Given the description of an element on the screen output the (x, y) to click on. 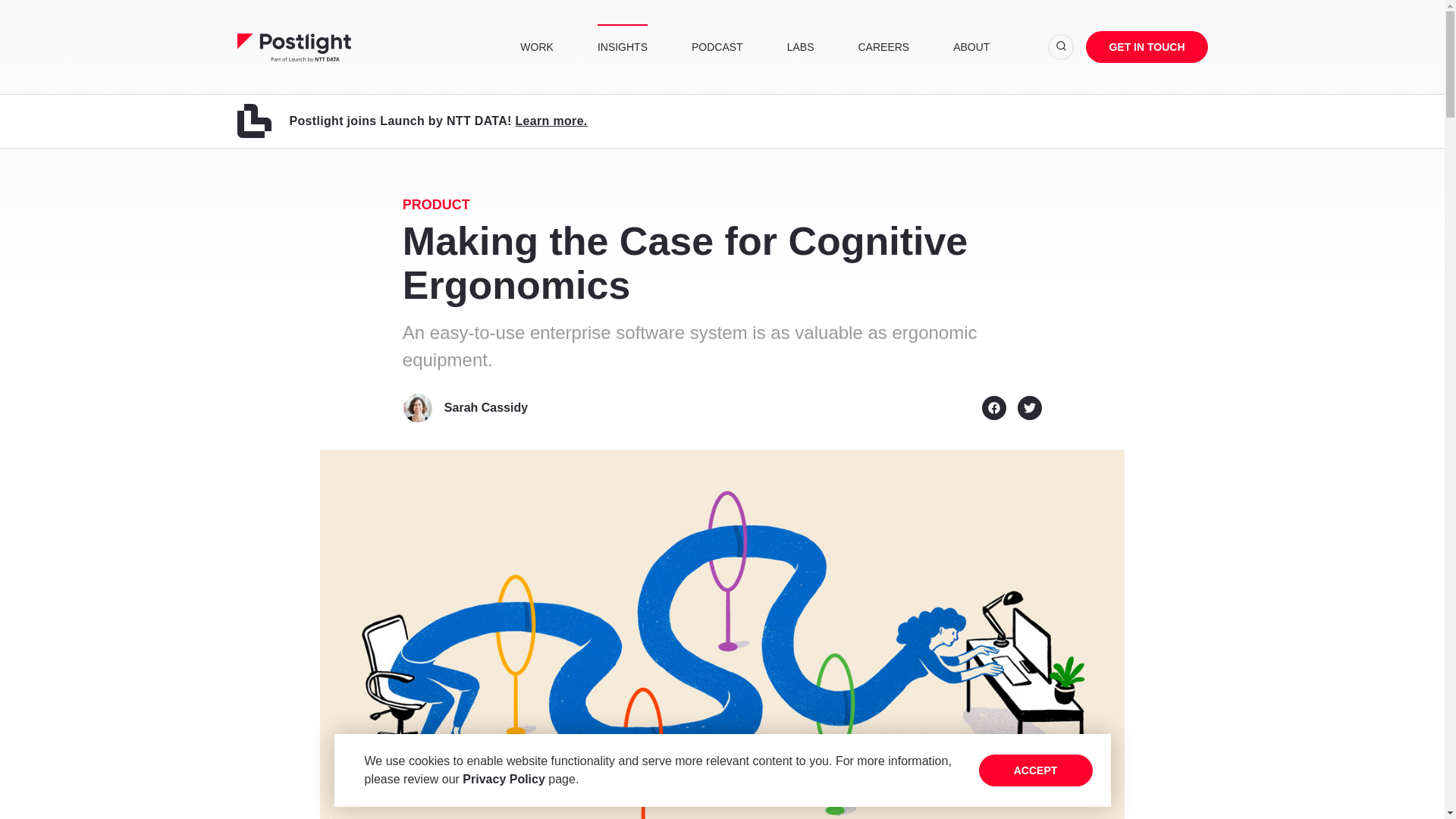
GET IN TOUCH (1146, 47)
GET IN TOUCH (1146, 47)
Learn more. (551, 120)
Search (1061, 46)
ACCEPT (1035, 770)
Sarah Cassidy (485, 407)
Privacy Policy (503, 779)
